Given the description of an element on the screen output the (x, y) to click on. 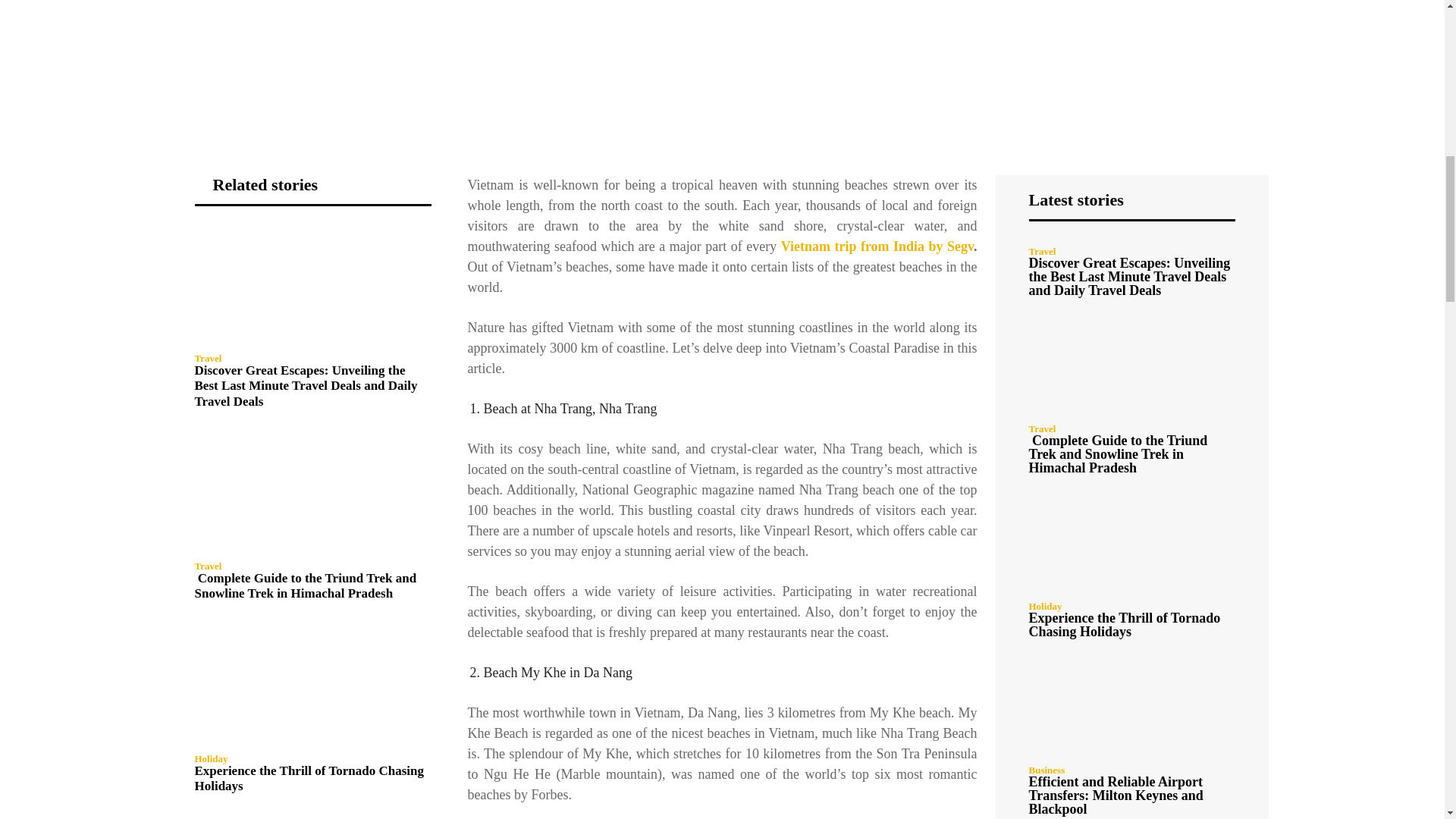
Holiday (210, 758)
Experience the Thrill of Tornado Chasing Holidays (308, 778)
Travel (207, 357)
Travel (207, 565)
Experience the Thrill of Tornado Chasing Holidays (311, 684)
